Given the description of an element on the screen output the (x, y) to click on. 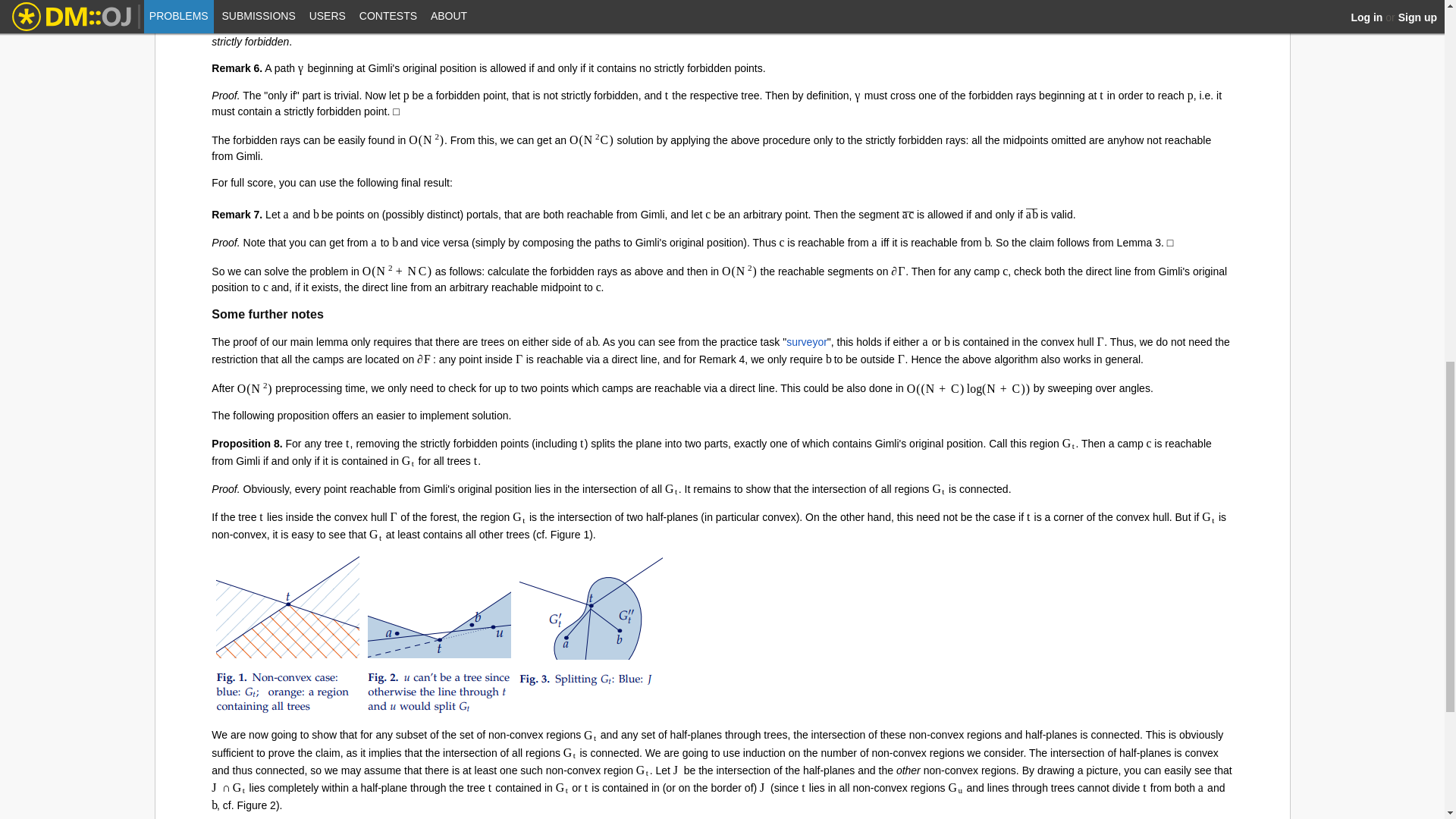
surveyor (806, 341)
